Given the description of an element on the screen output the (x, y) to click on. 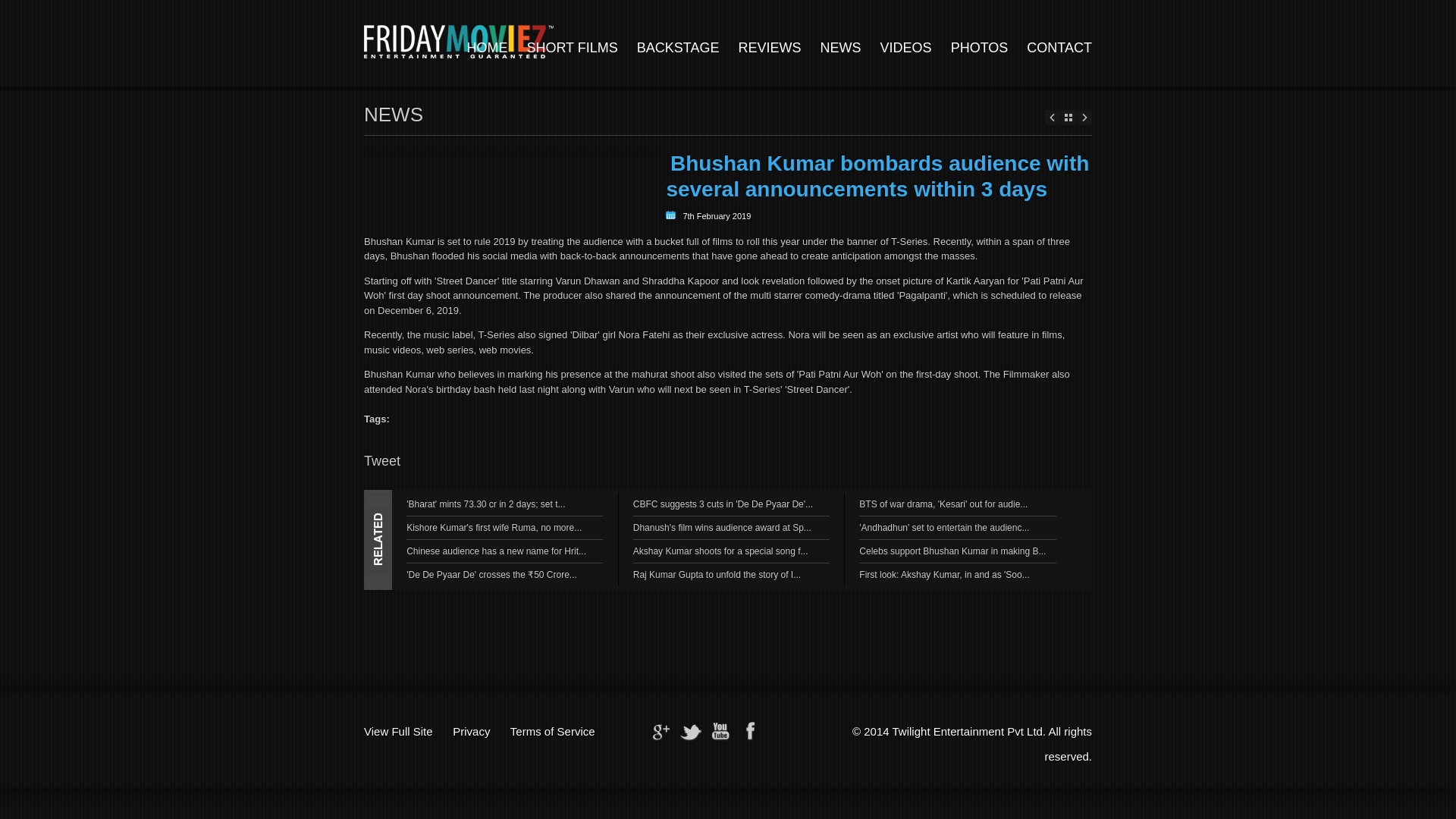
Chinese audience has a new name for Hrit... (496, 551)
Kishore Kumar's first wife Ruma, no more... (493, 527)
First look: Akshay Kumar, in and as 'Soo... (944, 574)
Kishore Kumar's first wife Ruma, no more (493, 527)
Bhushan Kumar (398, 241)
Raj Kumar Gupta to unfold the story of India's greatest spy  (716, 574)
Dhanush's film wins audience award at Spain, Barcelona (721, 527)
NEWS (841, 47)
Tweet (382, 460)
Kartik Aaryan (975, 280)
Raj Kumar Gupta to unfold the story of I... (716, 574)
'Bharat' mints 73.30 cr in 2 days; set t... (485, 503)
VIDEOS (905, 47)
Varun Dhawan (588, 280)
